Given the description of an element on the screen output the (x, y) to click on. 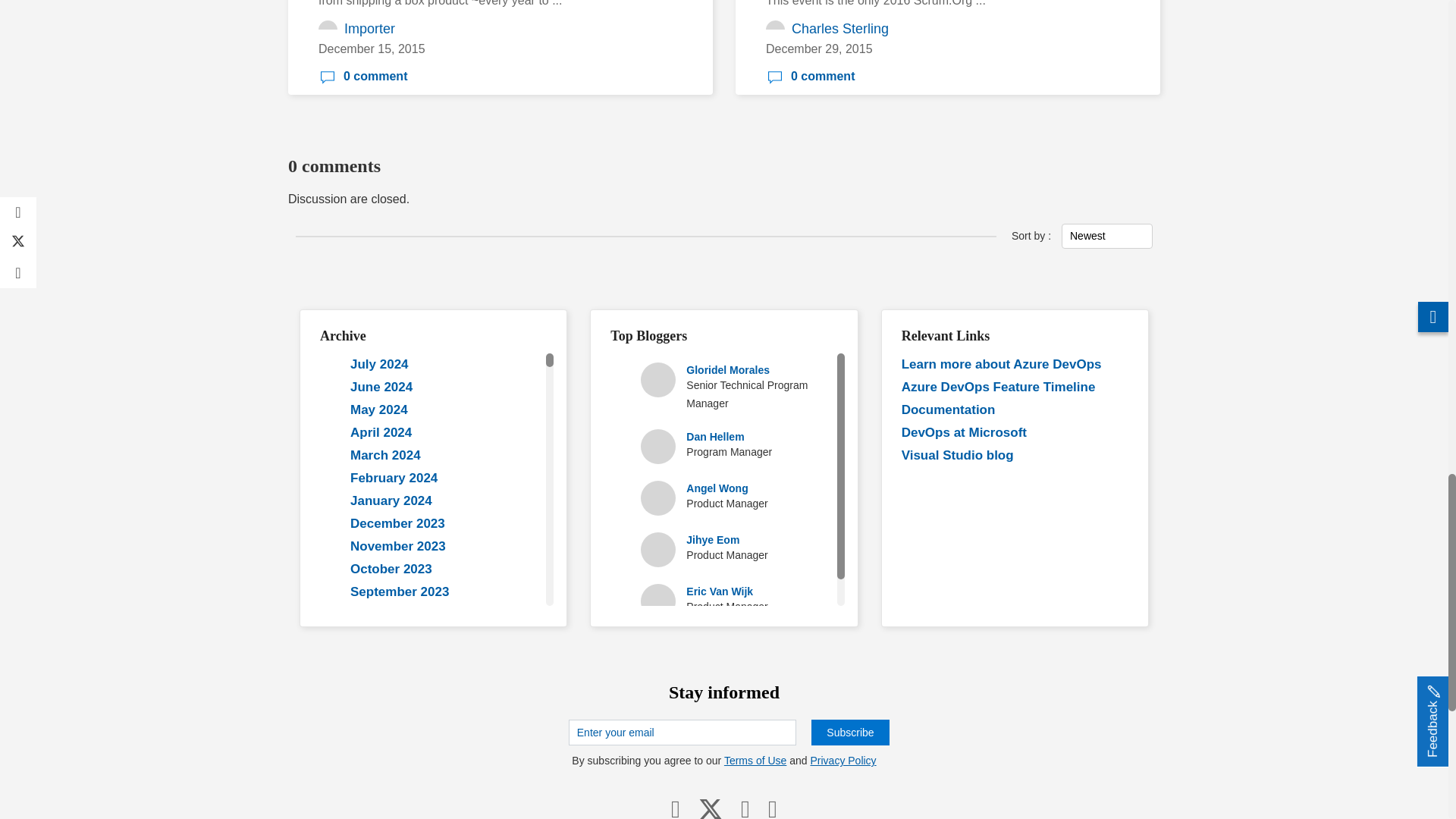
twitter (710, 808)
facebook (675, 808)
youtube (745, 808)
Subscribe (849, 732)
RSS Feed (772, 808)
